Given the description of an element on the screen output the (x, y) to click on. 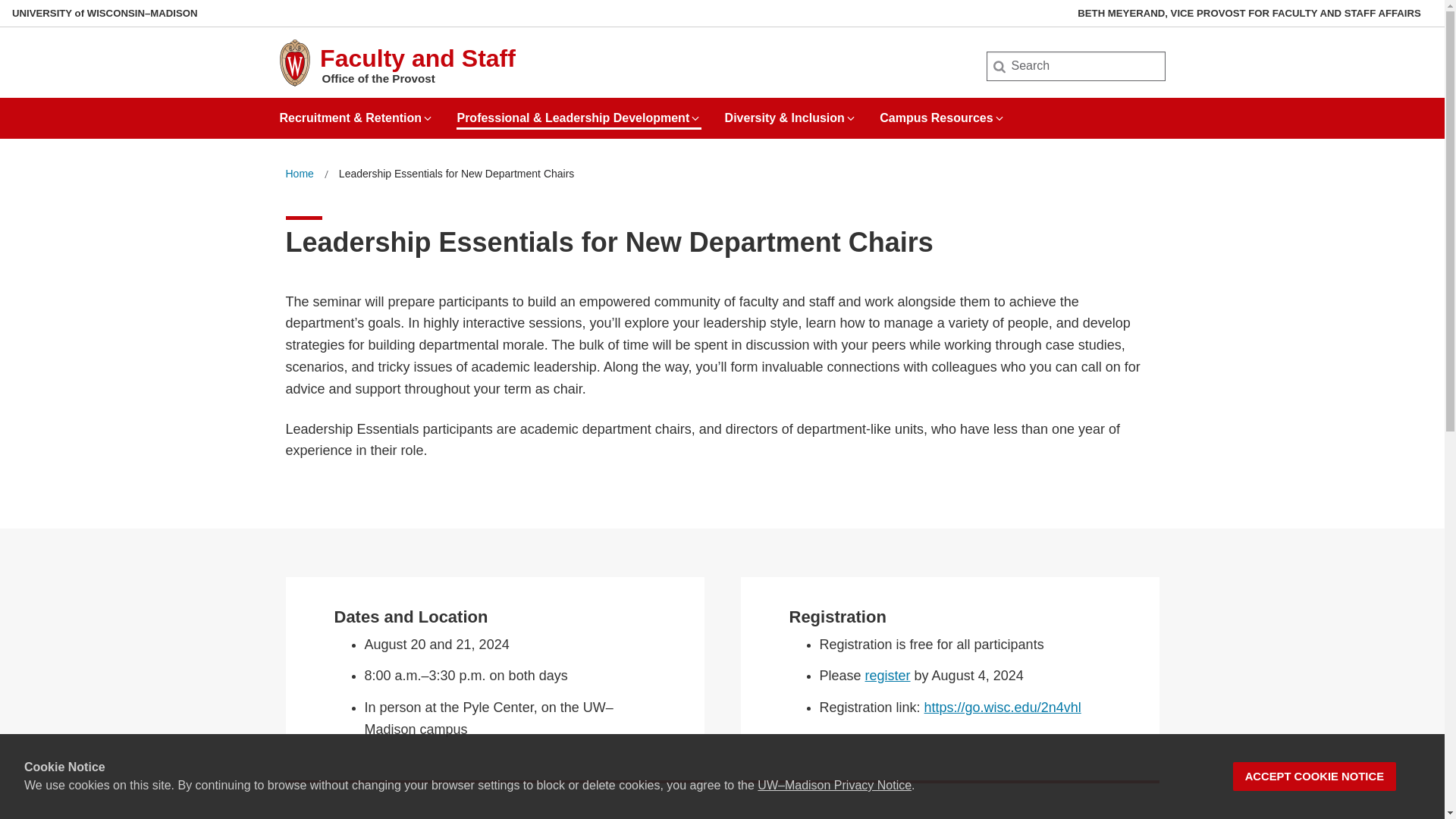
Expand (999, 118)
Expand (694, 118)
Expand (427, 118)
Office of the Provost (377, 78)
Campus Resources Expand (941, 112)
Expand (850, 118)
BETH MEYERAND, VICE PROVOST FOR FACULTY AND STAFF AFFAIRS (1249, 13)
Leadership Essentials for New Department Chairs (456, 173)
Skip to main content (3, 3)
Faculty and Staff (417, 58)
Home (299, 173)
Search (37, 16)
ACCEPT COOKIE NOTICE (1314, 776)
